Given the description of an element on the screen output the (x, y) to click on. 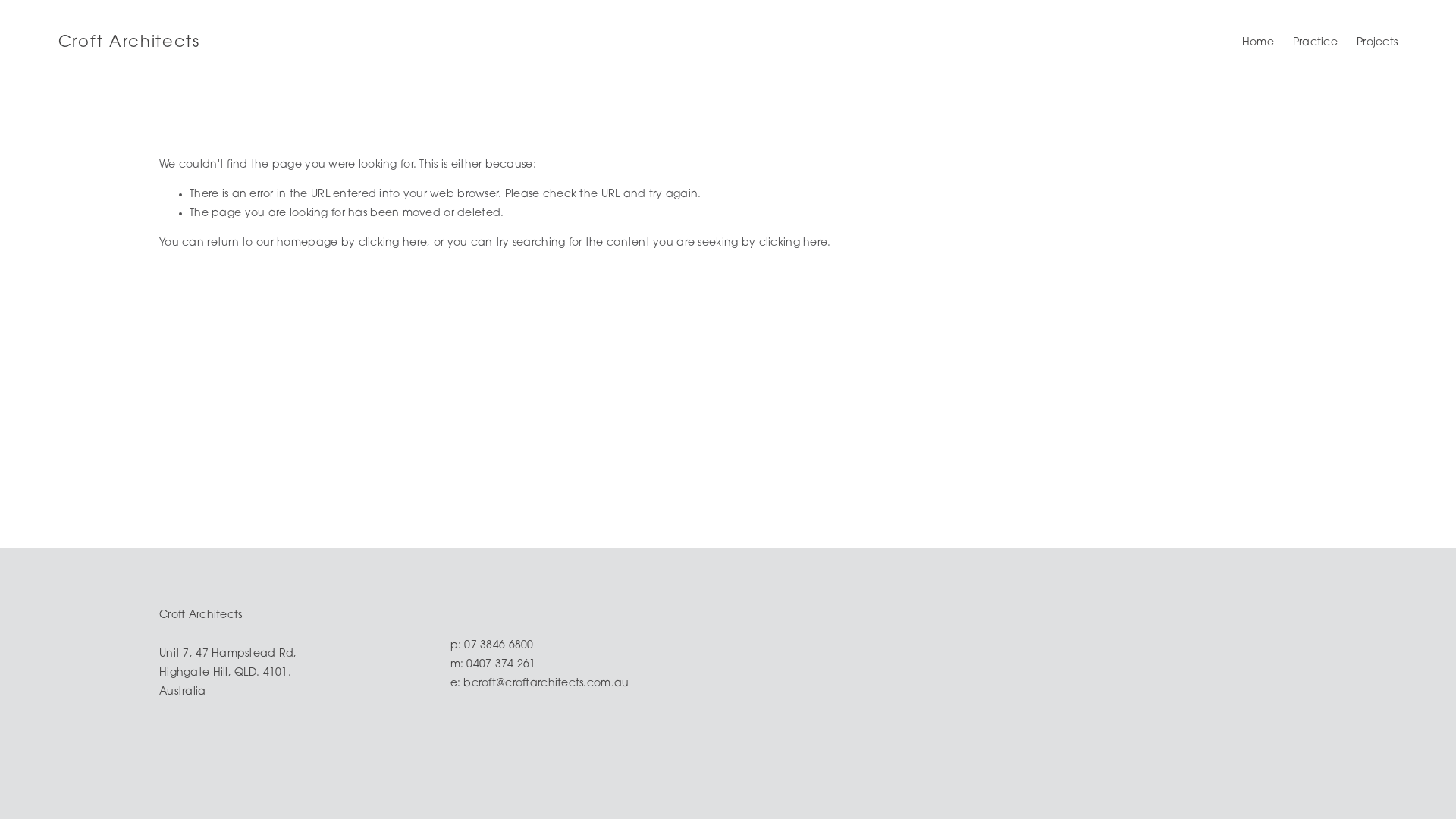
clicking here Element type: text (392, 242)
Home Element type: text (1258, 42)
Practice Element type: text (1314, 42)
clicking here Element type: text (793, 242)
Croft Architects Element type: text (129, 42)
Projects Element type: text (1376, 42)
